Given the description of an element on the screen output the (x, y) to click on. 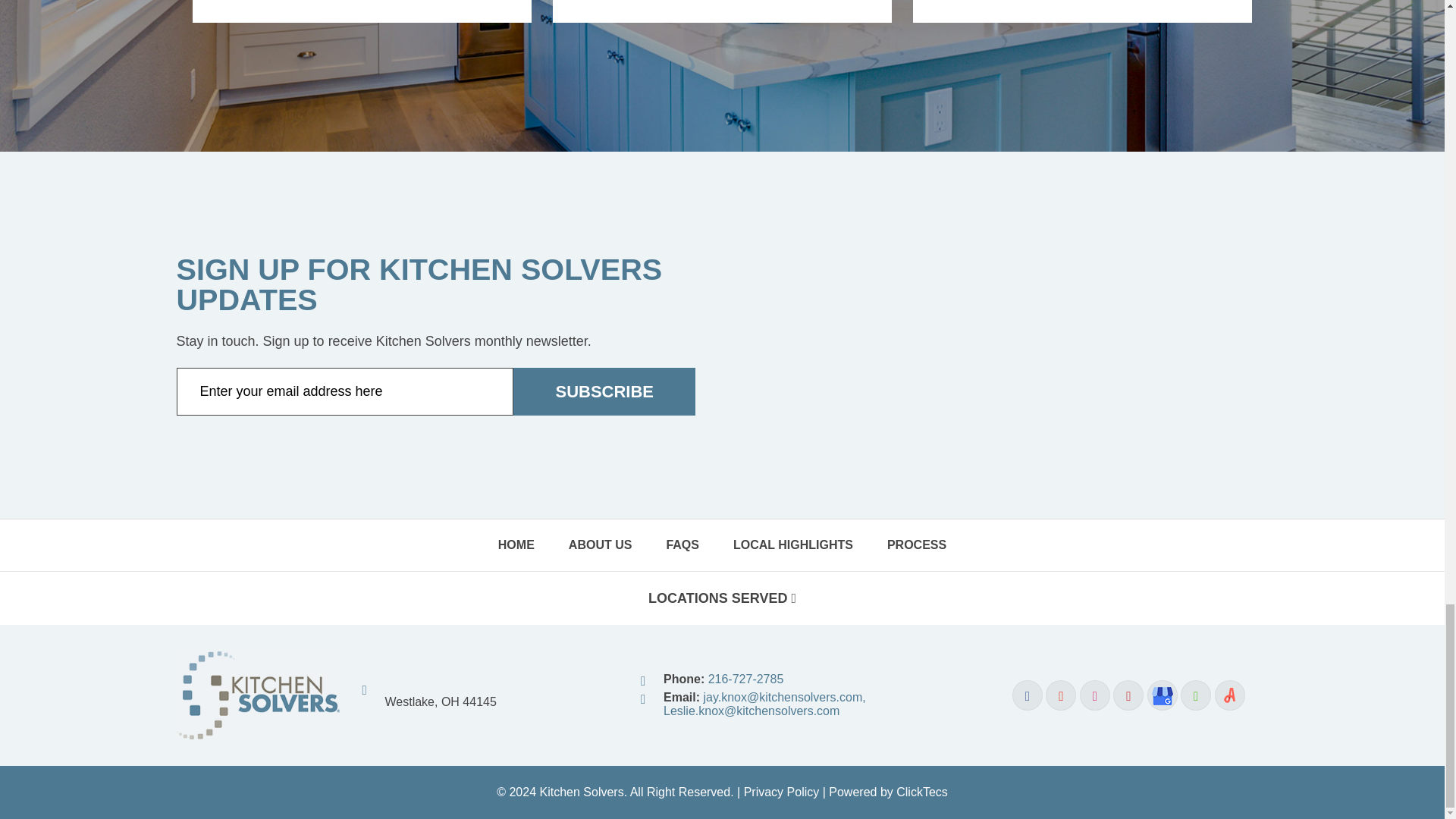
Our Projects (361, 11)
Kitchen Solvers of Greater Cleveland (257, 662)
Subscribe (604, 391)
Our Reviews (1081, 11)
Our Process (722, 11)
Subscribe (604, 391)
